Given the description of an element on the screen output the (x, y) to click on. 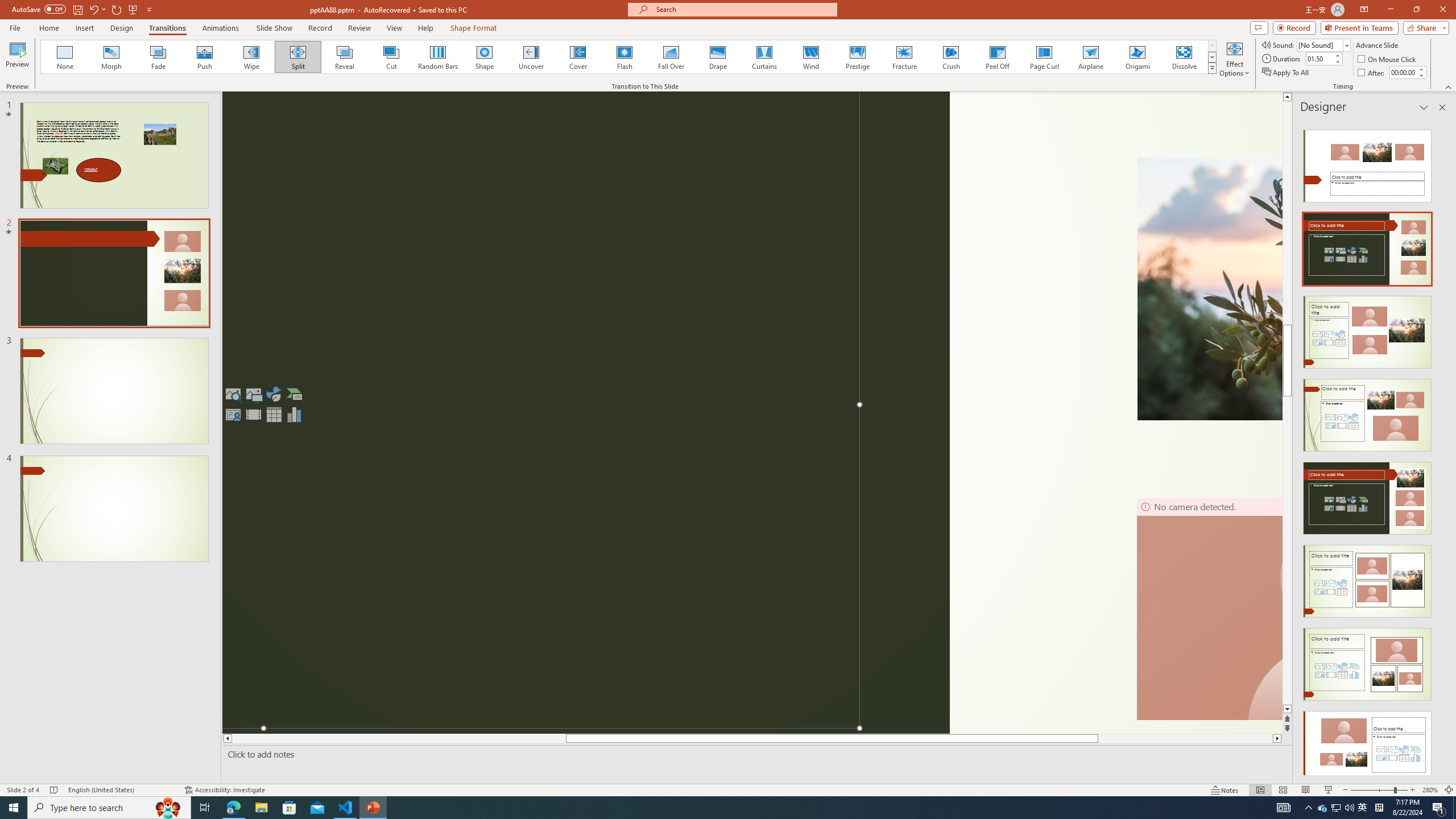
Transition Effects (1212, 67)
Duration (1319, 58)
Camera 13, No camera detected. (1208, 609)
Slide Notes (754, 754)
Effect Options (1234, 58)
Sound (1324, 44)
Slide (114, 508)
Drape (717, 56)
Airplane (1090, 56)
